Given the description of an element on the screen output the (x, y) to click on. 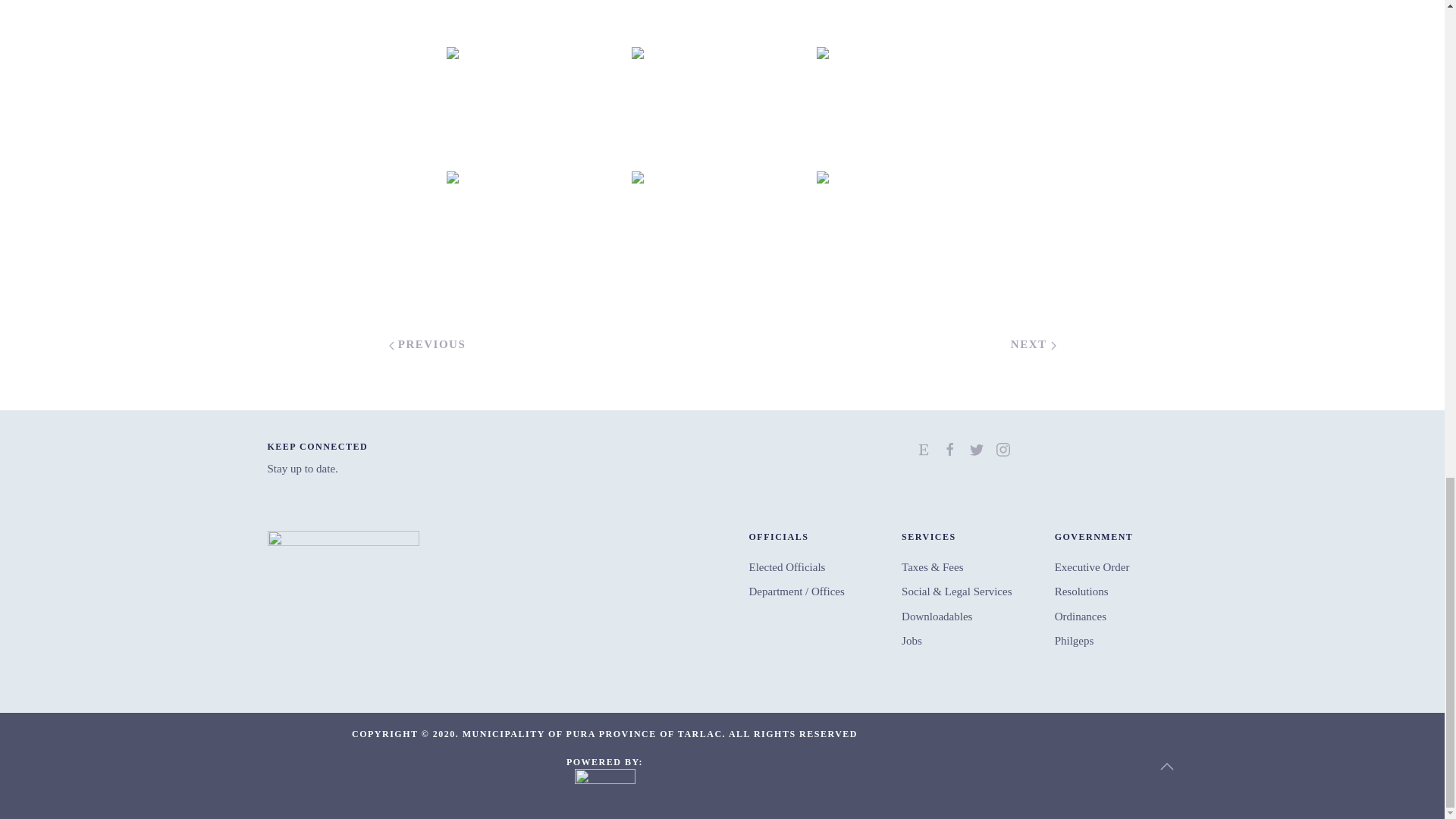
12 (536, 107)
7 (906, 22)
9 (536, 22)
8 (721, 22)
